Given the description of an element on the screen output the (x, y) to click on. 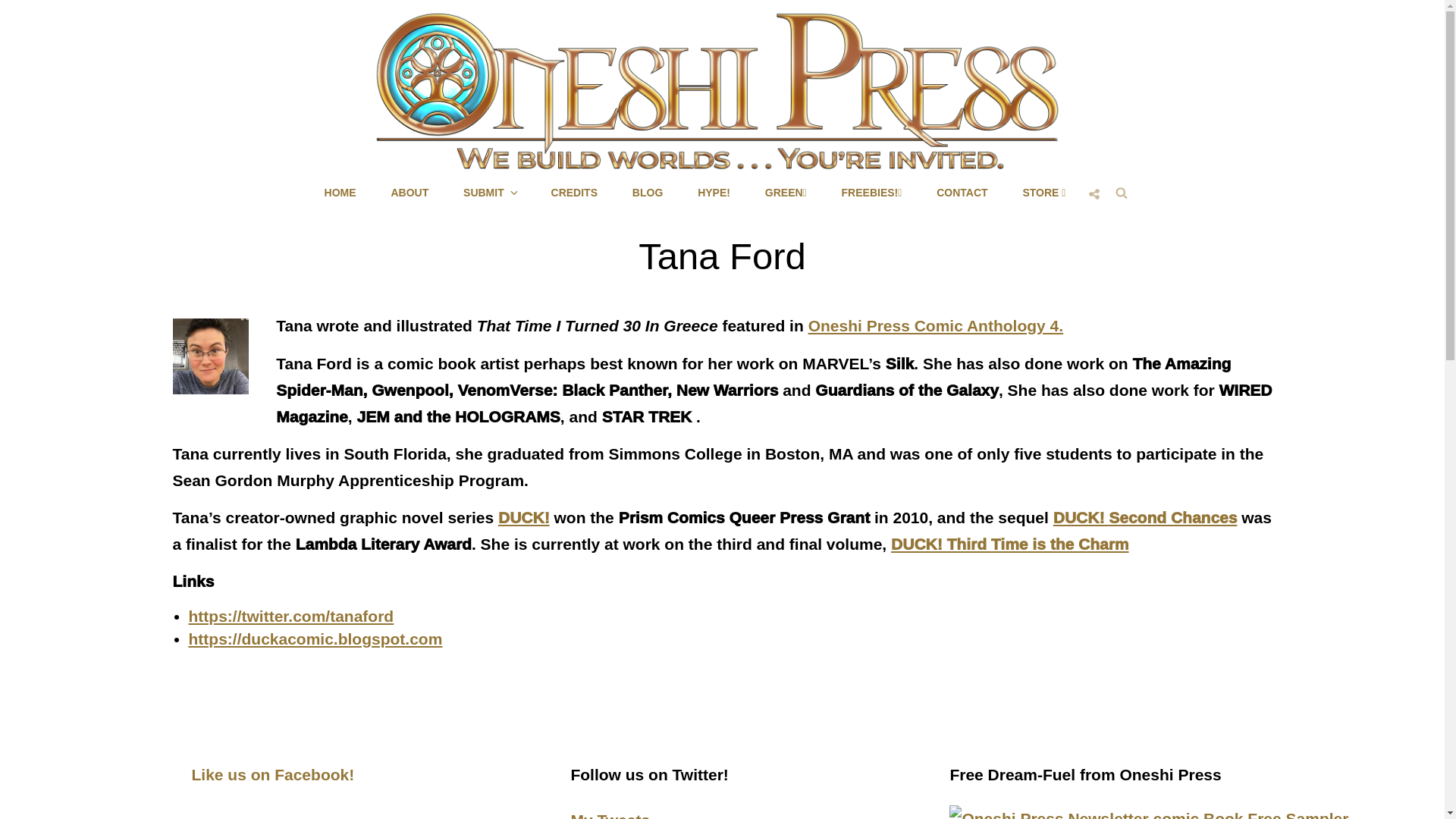
SUBMIT (489, 192)
Credits: Who we are (573, 192)
CONTACT (962, 192)
DUCK! Second Chances (1144, 517)
About us: Why we do it (409, 192)
BLOG (647, 192)
Search (1121, 192)
HYPE! (713, 192)
DUCK! (523, 517)
HOME (339, 192)
Contact: Where to reach us (962, 192)
ABOUT (409, 192)
Updates: When we do things (647, 192)
Oneshi Press Comic Anthology 4. (935, 325)
Like us on Facebook! (271, 773)
